Given the description of an element on the screen output the (x, y) to click on. 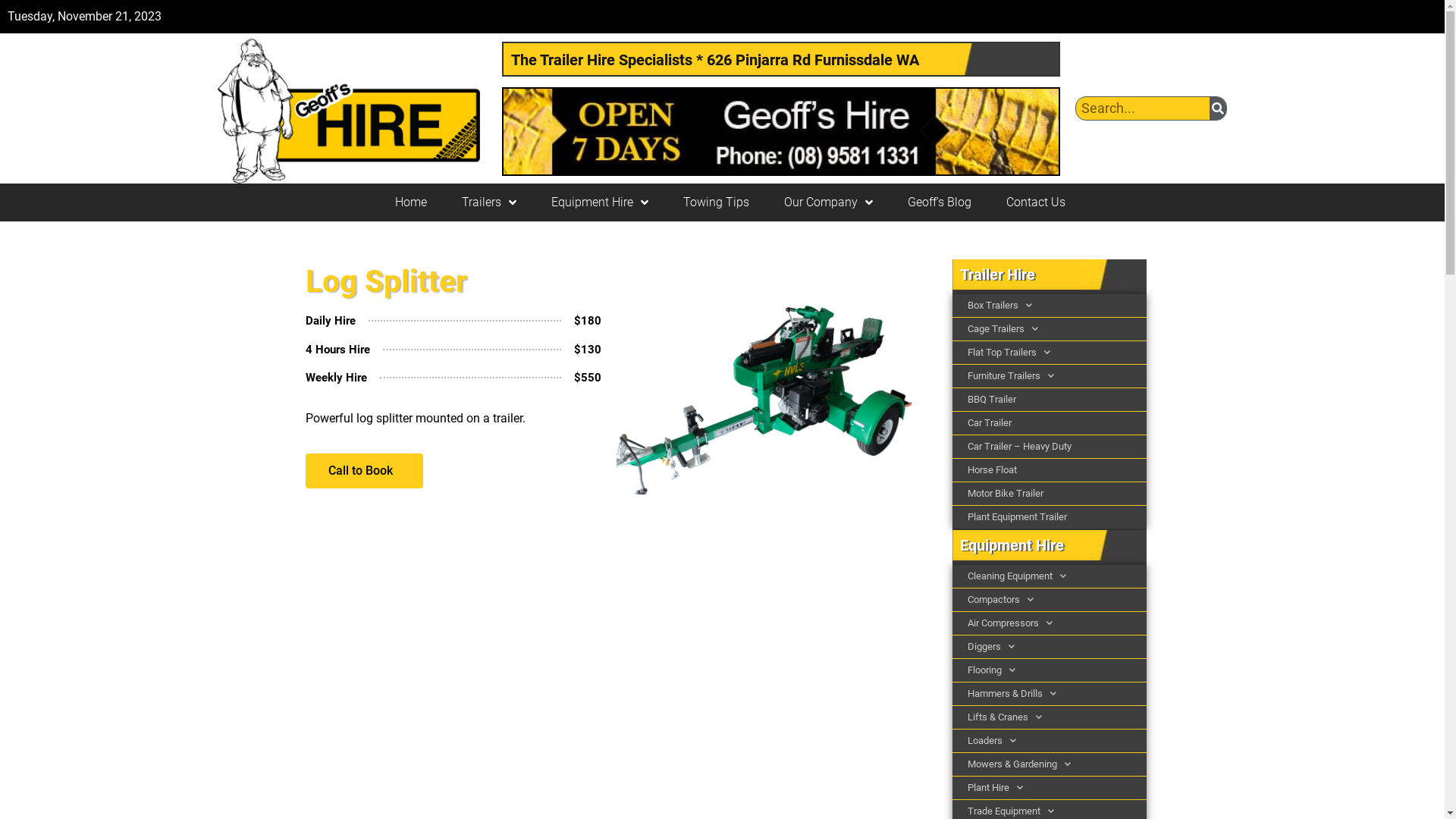
Trailers Element type: text (488, 202)
Compactors Element type: text (1049, 599)
Lifts & Cranes Element type: text (1049, 717)
Plant Equipment Trailer Element type: text (1049, 516)
Car Trailer Element type: text (1049, 422)
Horse Float Element type: text (1049, 469)
Cage Trailers Element type: text (1049, 328)
Flat Top Trailers Element type: text (1049, 352)
Home Element type: text (409, 202)
Weekly Hire
$550 Element type: text (452, 381)
4 Hours Hire
$130 Element type: text (452, 353)
Our Company Element type: text (828, 202)
Equipment Hire Element type: text (598, 202)
Cleaning Equipment Element type: text (1049, 575)
Diggers Element type: text (1049, 646)
Towing Tips Element type: text (715, 202)
BBQ Trailer Element type: text (1049, 399)
Plant Hire Element type: text (1049, 787)
Flooring Element type: text (1049, 669)
Daily Hire
$180 Element type: text (452, 324)
Call to Book Element type: text (363, 470)
Furniture Trailers Element type: text (1049, 375)
Hammers & Drills Element type: text (1049, 693)
Motor Bike Trailer Element type: text (1049, 493)
Box Trailers Element type: text (1049, 305)
Air Compressors Element type: text (1049, 622)
Contact Us Element type: text (1034, 202)
Loaders Element type: text (1049, 740)
Mowers & Gardening Element type: text (1049, 764)
